Given the description of an element on the screen output the (x, y) to click on. 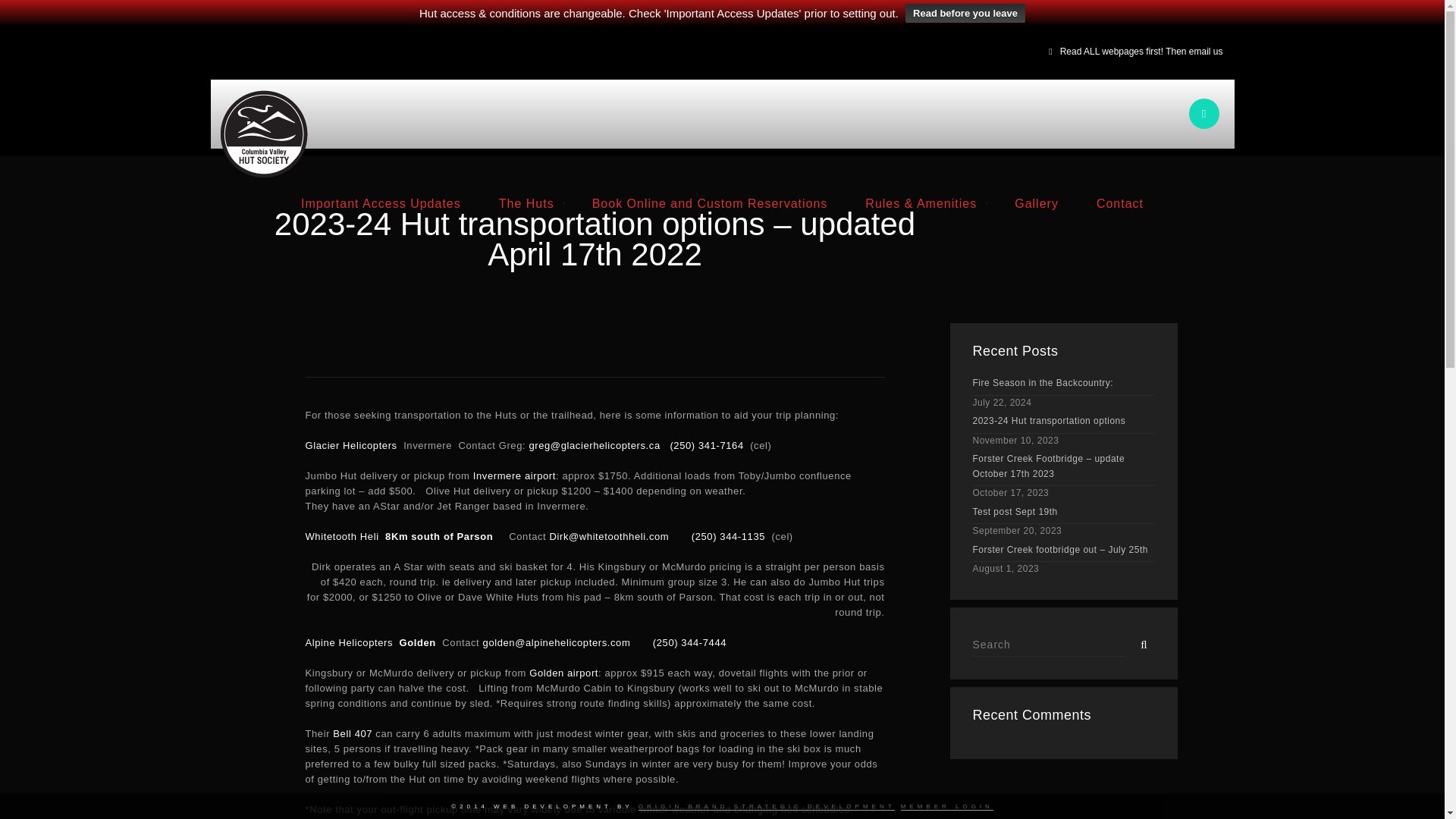
Read before you leave (965, 13)
Read ALL webpages first! Then email us (1141, 50)
Glacier Helicopters (350, 445)
Important Access Updates (381, 204)
Book Online and Custom Reservations (710, 204)
Search (1140, 641)
Search (1048, 644)
Gallery (1036, 204)
Contact (1119, 204)
The Huts (526, 204)
